Given the description of an element on the screen output the (x, y) to click on. 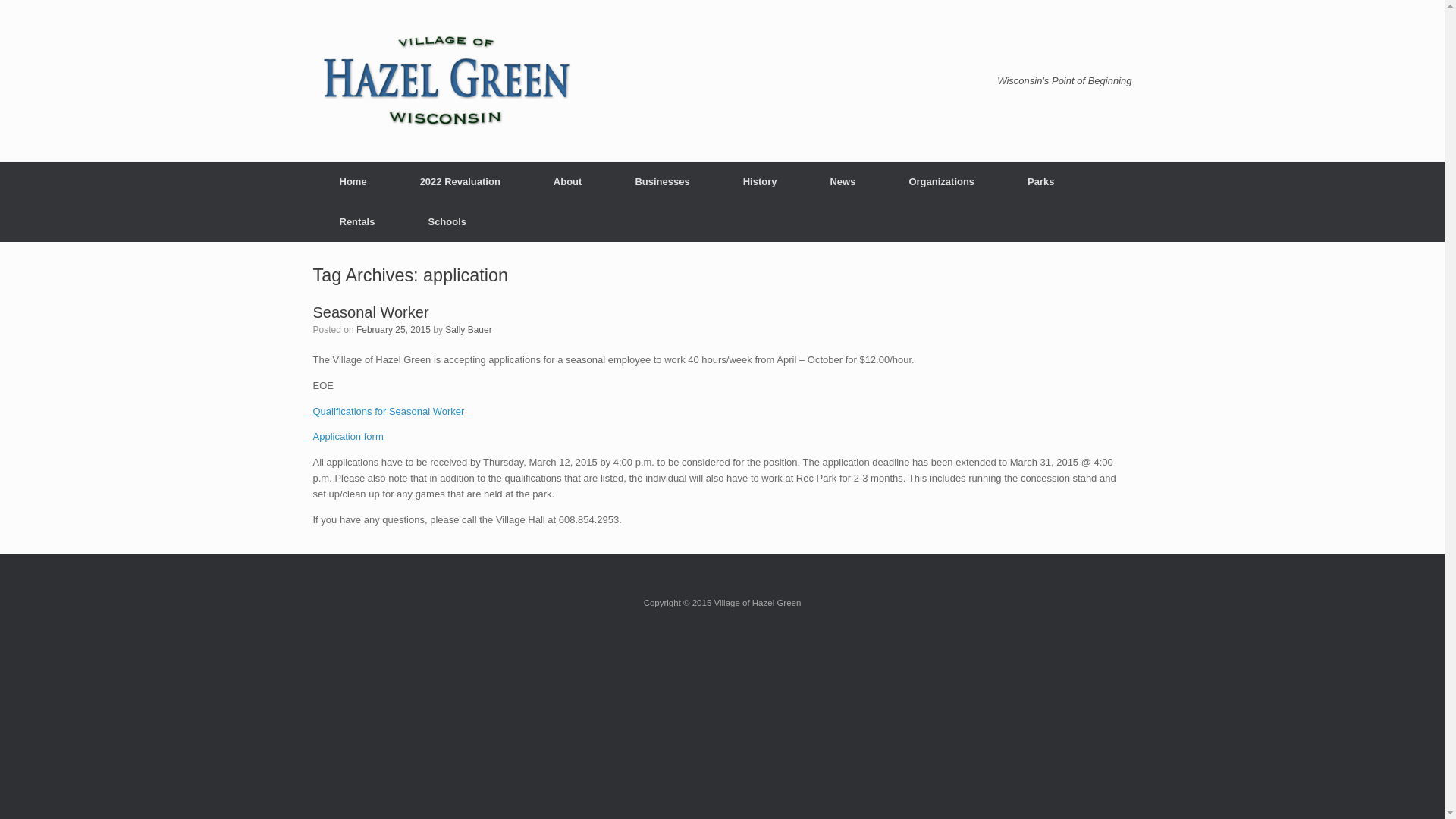
8:23 AM (393, 329)
Application form (347, 436)
News (842, 181)
Qualifications for Seasonal Worker (388, 410)
About (567, 181)
View all posts by Sally Bauer (468, 329)
Rentals (357, 221)
Schools (447, 221)
Village of Hazel Green (445, 80)
Seasonal Worker (370, 311)
History (759, 181)
Permalink to Seasonal Worker (370, 311)
February 25, 2015 (393, 329)
Businesses (662, 181)
Organizations (941, 181)
